Given the description of an element on the screen output the (x, y) to click on. 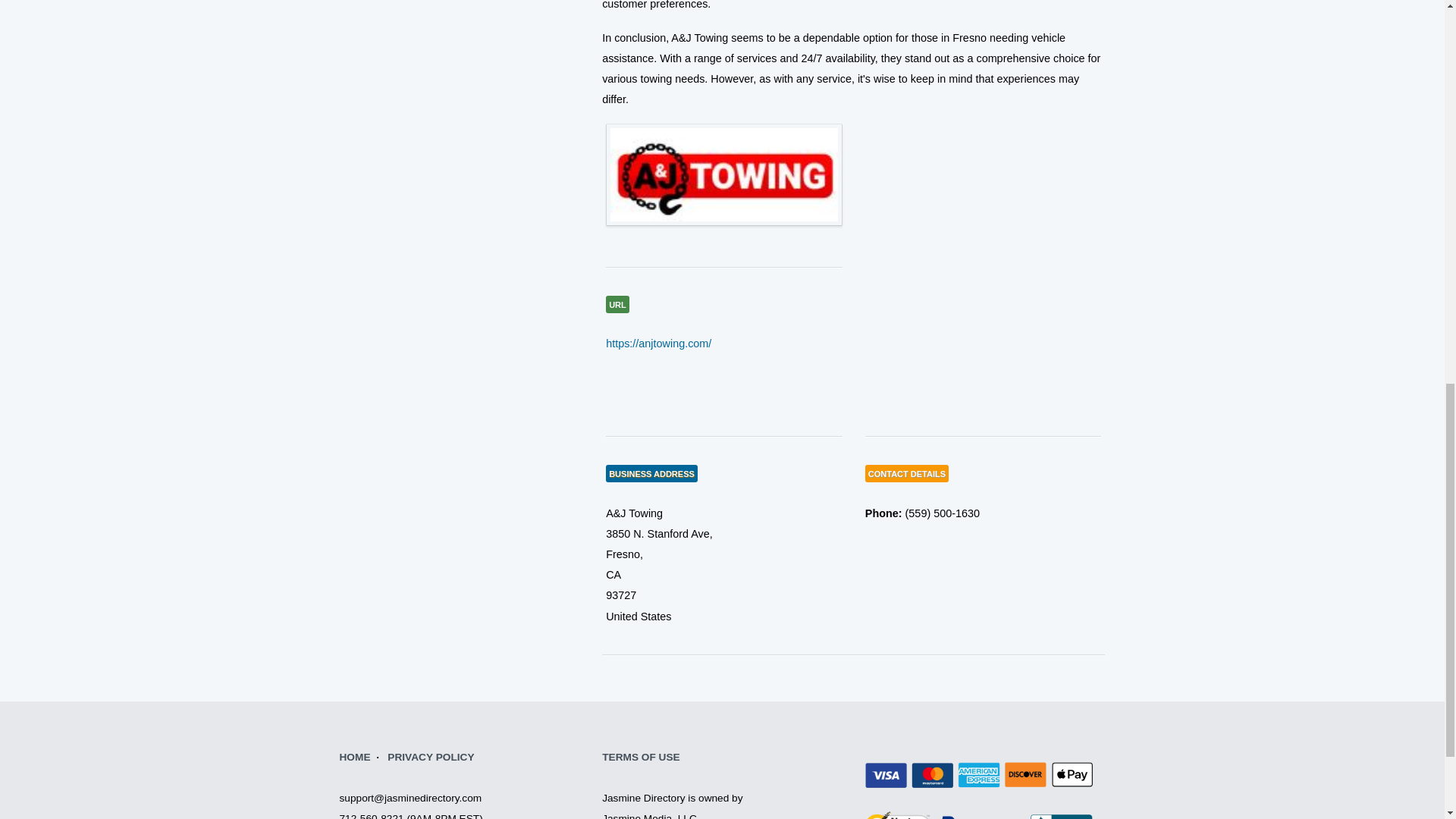
PRIVACY POLICY (430, 756)
HOME (355, 756)
BUSINESS WEB DIRECTORY (355, 756)
TERMS OF USE (640, 756)
